Given the description of an element on the screen output the (x, y) to click on. 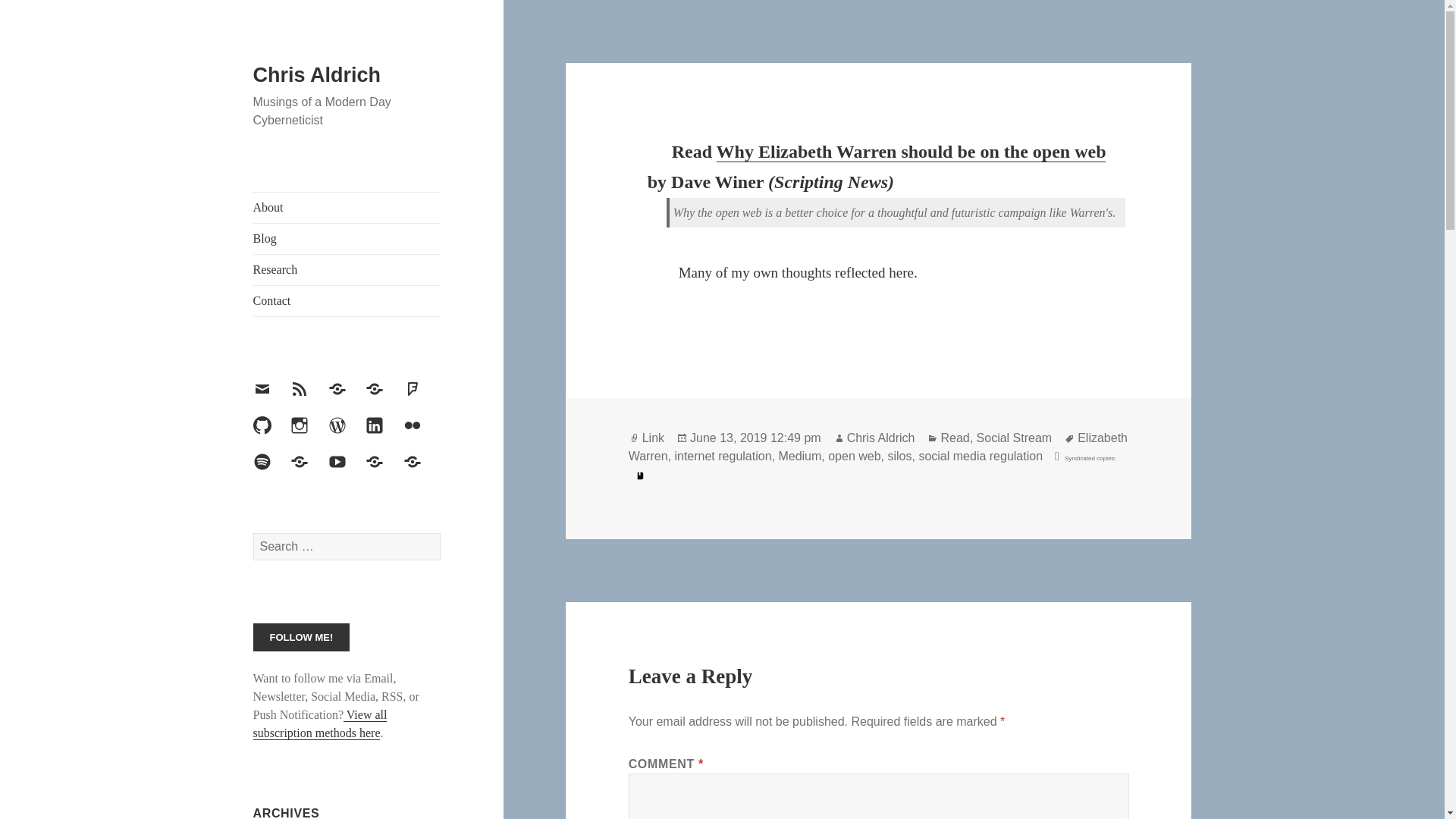
Follow Me! (301, 637)
Blog (347, 238)
Chris Aldrich (317, 74)
About (347, 207)
